Given the description of an element on the screen output the (x, y) to click on. 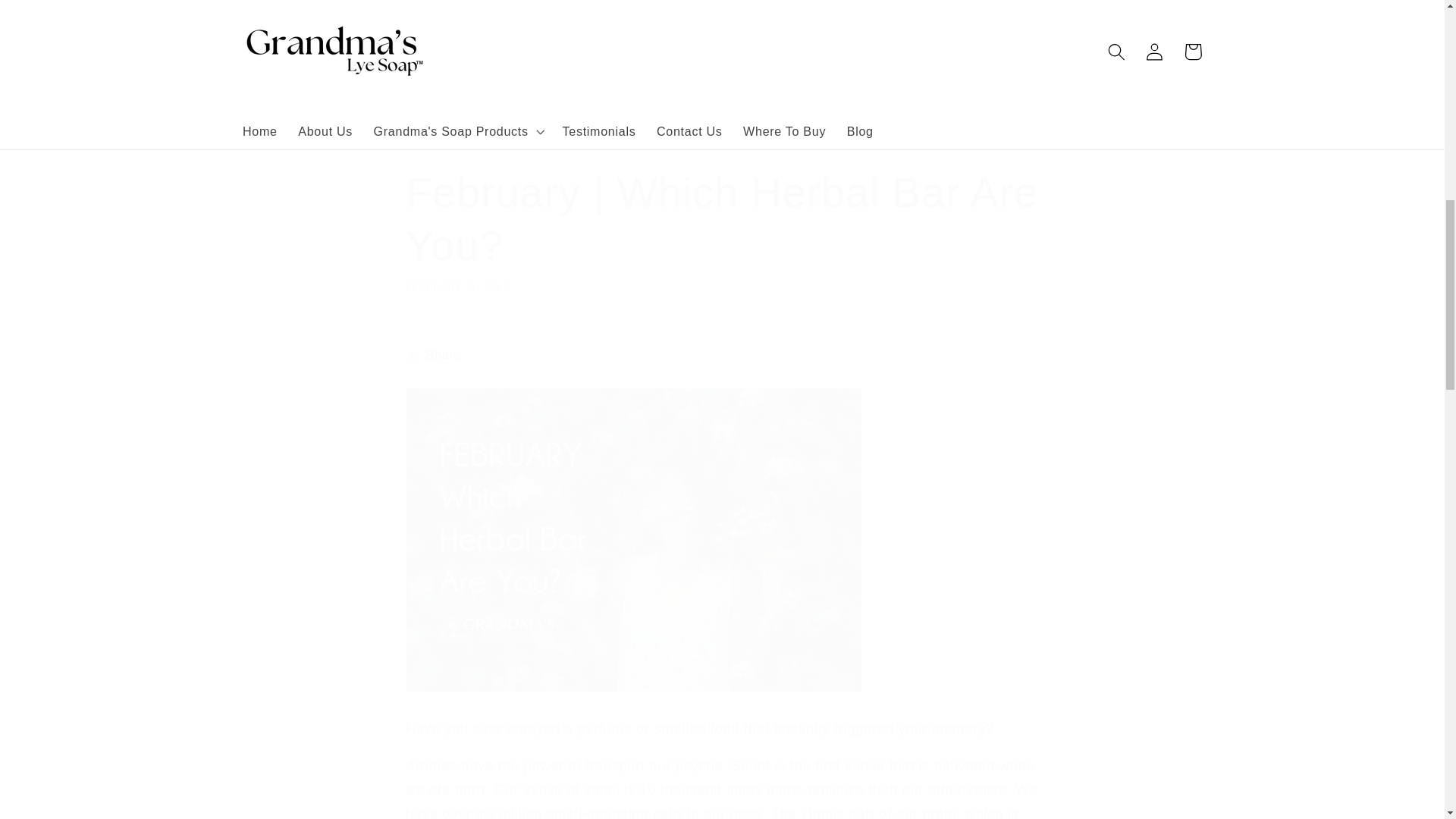
Share (722, 354)
